Given the description of an element on the screen output the (x, y) to click on. 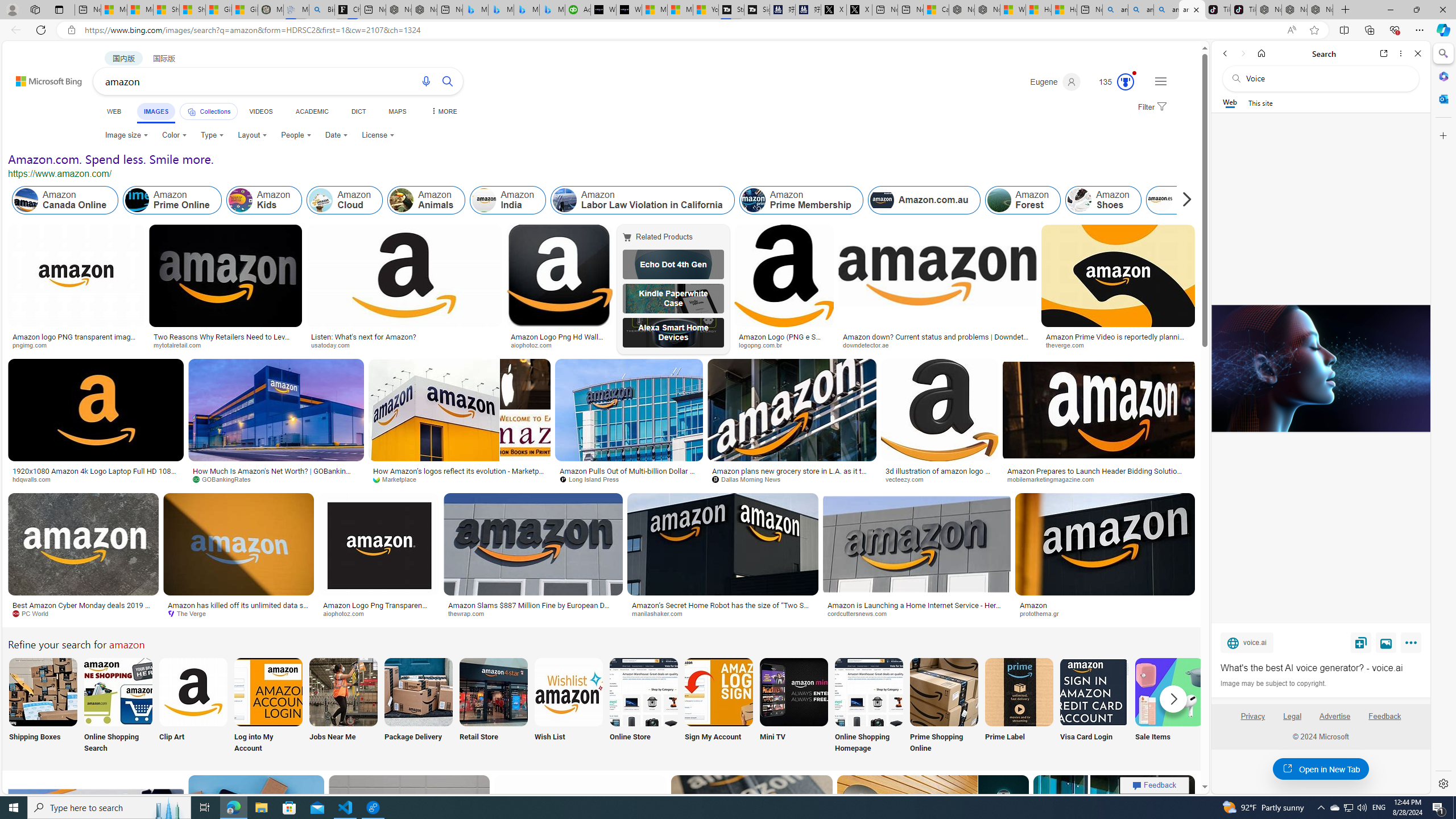
TikTok (1242, 9)
Amazon Prime Membership (753, 200)
Marketplace (459, 479)
Alexa Smart Home Devices (673, 332)
What's the best AI voice generator? - voice.ai (628, 9)
Microsoft Start Sports (654, 9)
IMAGES (156, 111)
